Given the description of an element on the screen output the (x, y) to click on. 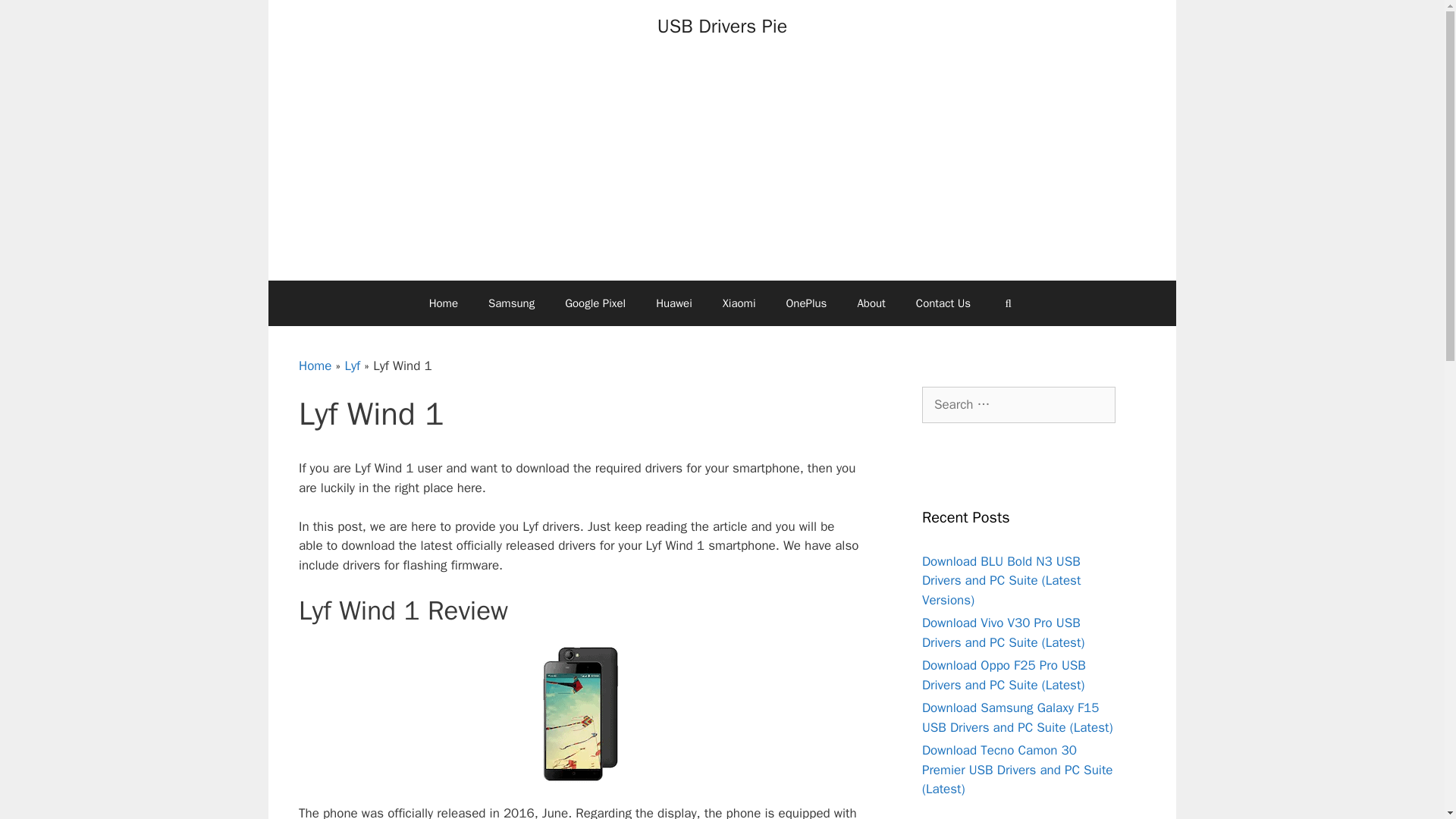
Search (35, 18)
Contact Us (943, 302)
Google Pixel (595, 302)
USB Drivers Pie (722, 25)
Lyf (351, 365)
Home (443, 302)
Samsung (511, 302)
Search for: (1018, 404)
Huawei (673, 302)
